Given the description of an element on the screen output the (x, y) to click on. 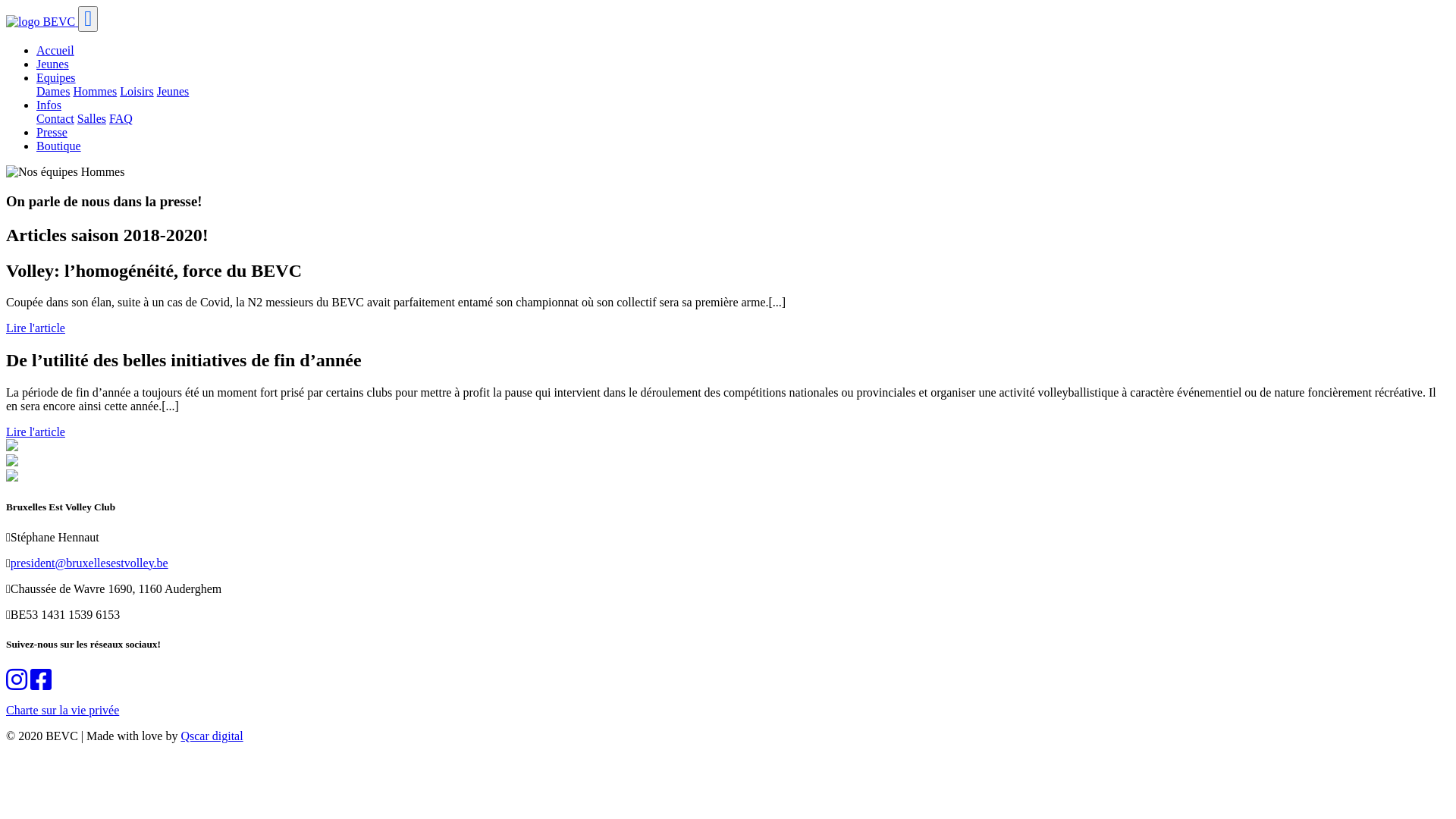
Loisirs Element type: text (136, 90)
Salles Element type: text (91, 118)
Contact Element type: text (55, 118)
Dames Element type: text (52, 90)
Presse Element type: text (51, 131)
Jeunes Element type: text (52, 63)
Lire l'article Element type: text (35, 327)
Qscar digital Element type: text (211, 735)
Infos Element type: text (48, 104)
president@bruxellesestvolley.be Element type: text (89, 562)
Jeunes Element type: text (172, 90)
Boutique Element type: text (58, 145)
Lire l'article Element type: text (35, 431)
Accueil Element type: text (55, 49)
Hommes Element type: text (94, 90)
FAQ Element type: text (120, 118)
Equipes Element type: text (55, 77)
